Given the description of an element on the screen output the (x, y) to click on. 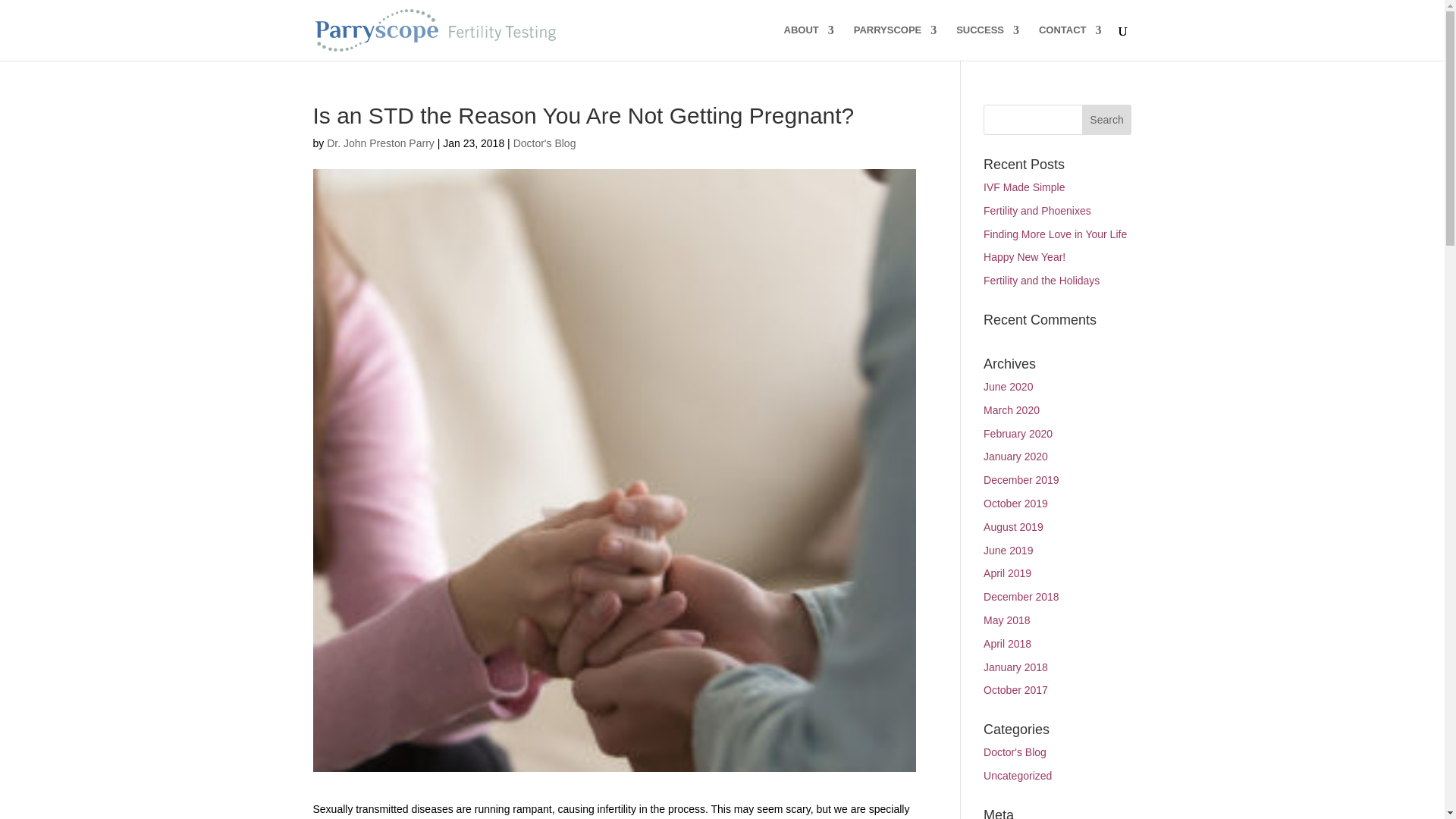
Posts by Dr. John Preston Parry (379, 143)
Fertility and the Holidays (1041, 280)
June 2020 (1008, 386)
SUCCESS (987, 42)
PARRYSCOPE (895, 42)
March 2020 (1011, 410)
Fertility and Phoenixes (1037, 210)
Doctor's Blog (544, 143)
CONTACT (1070, 42)
Search (1106, 119)
